Given the description of an element on the screen output the (x, y) to click on. 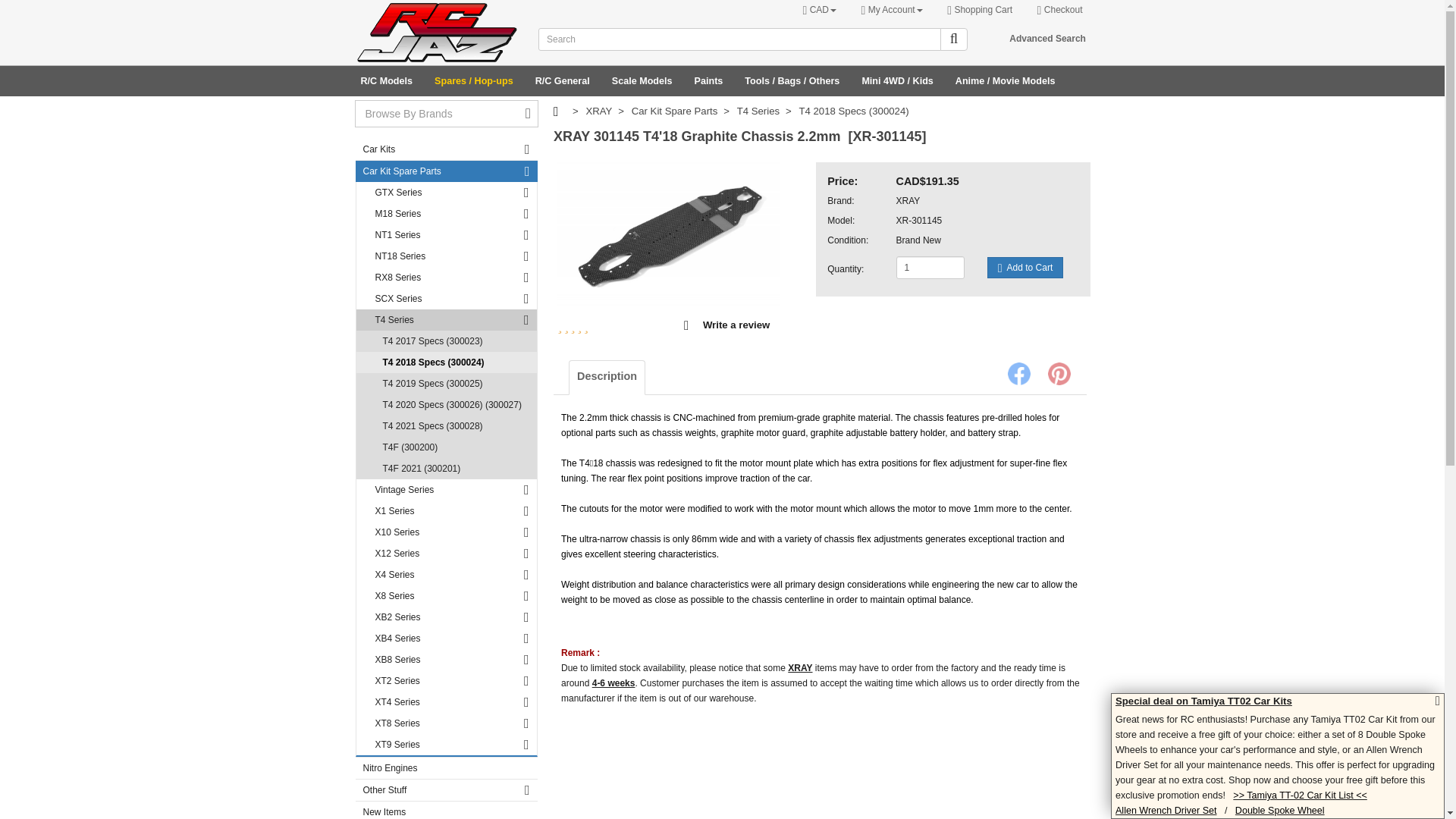
1 (929, 267)
Currency (817, 9)
Store Logo (436, 32)
RX8 Series (446, 277)
M18 Series (446, 213)
Advanced Search (1047, 38)
NT1 Series (446, 234)
Paints (708, 79)
Scale Models (641, 79)
Pinterest (1059, 373)
Share on Facebook (1018, 373)
My Account (888, 9)
Share on Facebook (1018, 373)
GTX Series (446, 192)
T4 Series (446, 319)
